Given the description of an element on the screen output the (x, y) to click on. 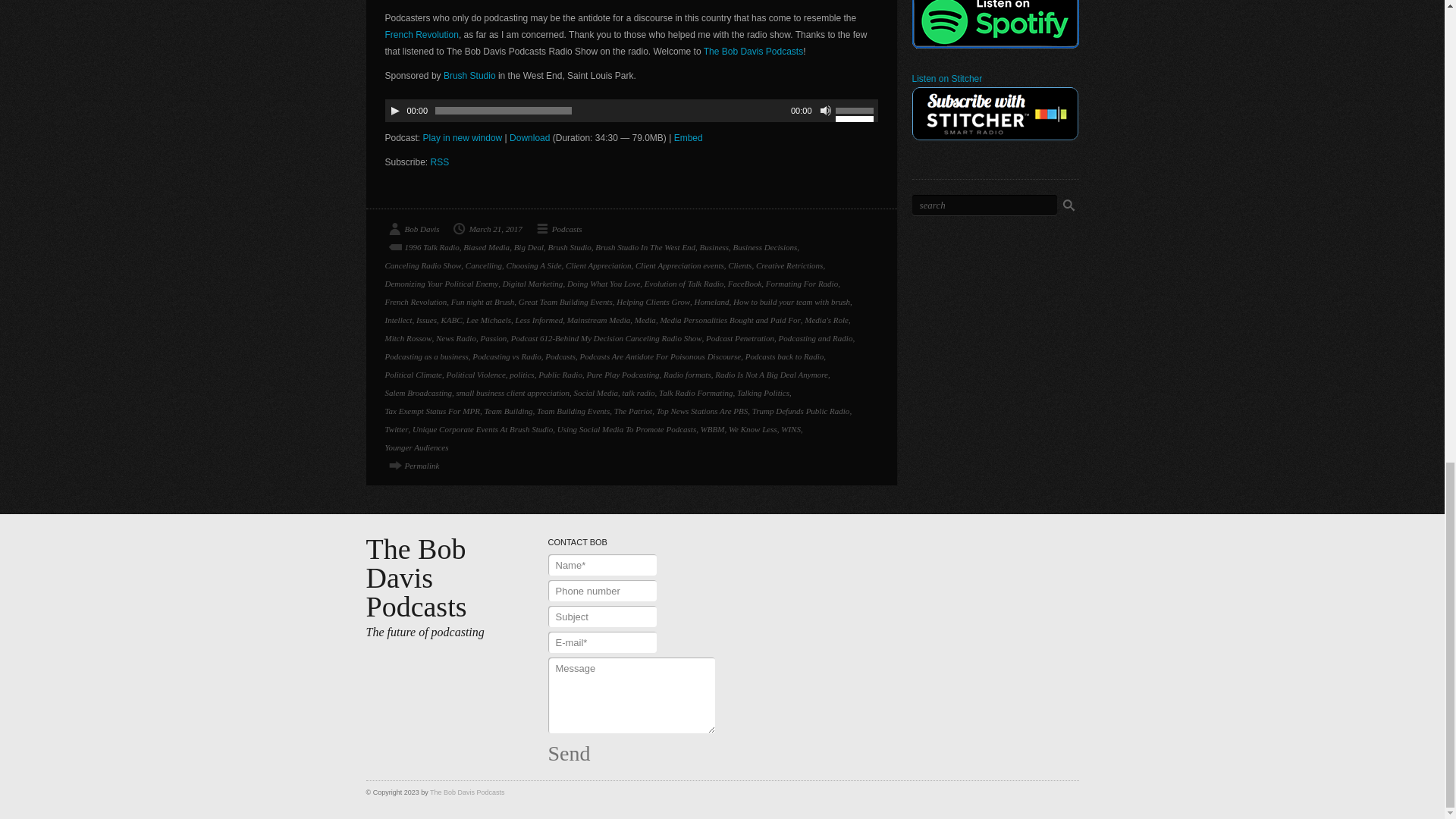
Bob Davis (412, 229)
Podcast 612-Behind My Decision Canceling Radio Show (412, 465)
Embed (688, 137)
RSS (439, 162)
Send (568, 753)
March 21, 2017 (485, 229)
Subscribe via RSS (439, 162)
Brush Studio (470, 75)
Podcasts (557, 229)
Download (529, 137)
Play (394, 110)
Embed (688, 137)
View all posts from March (485, 229)
1996 Talk Radio (422, 247)
The Bob Davis Podcasts (753, 50)
